Given the description of an element on the screen output the (x, y) to click on. 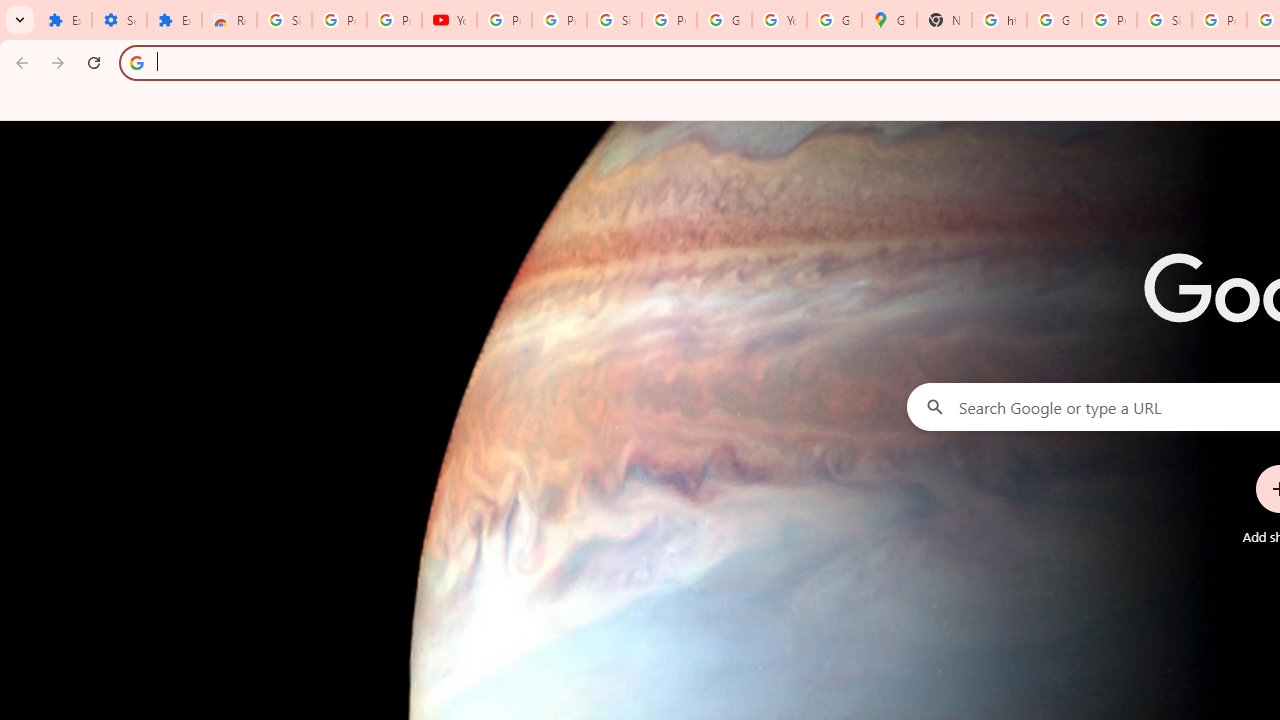
Google Account (724, 20)
https://scholar.google.com/ (998, 20)
Google Maps (888, 20)
Extensions (64, 20)
